Given the description of an element on the screen output the (x, y) to click on. 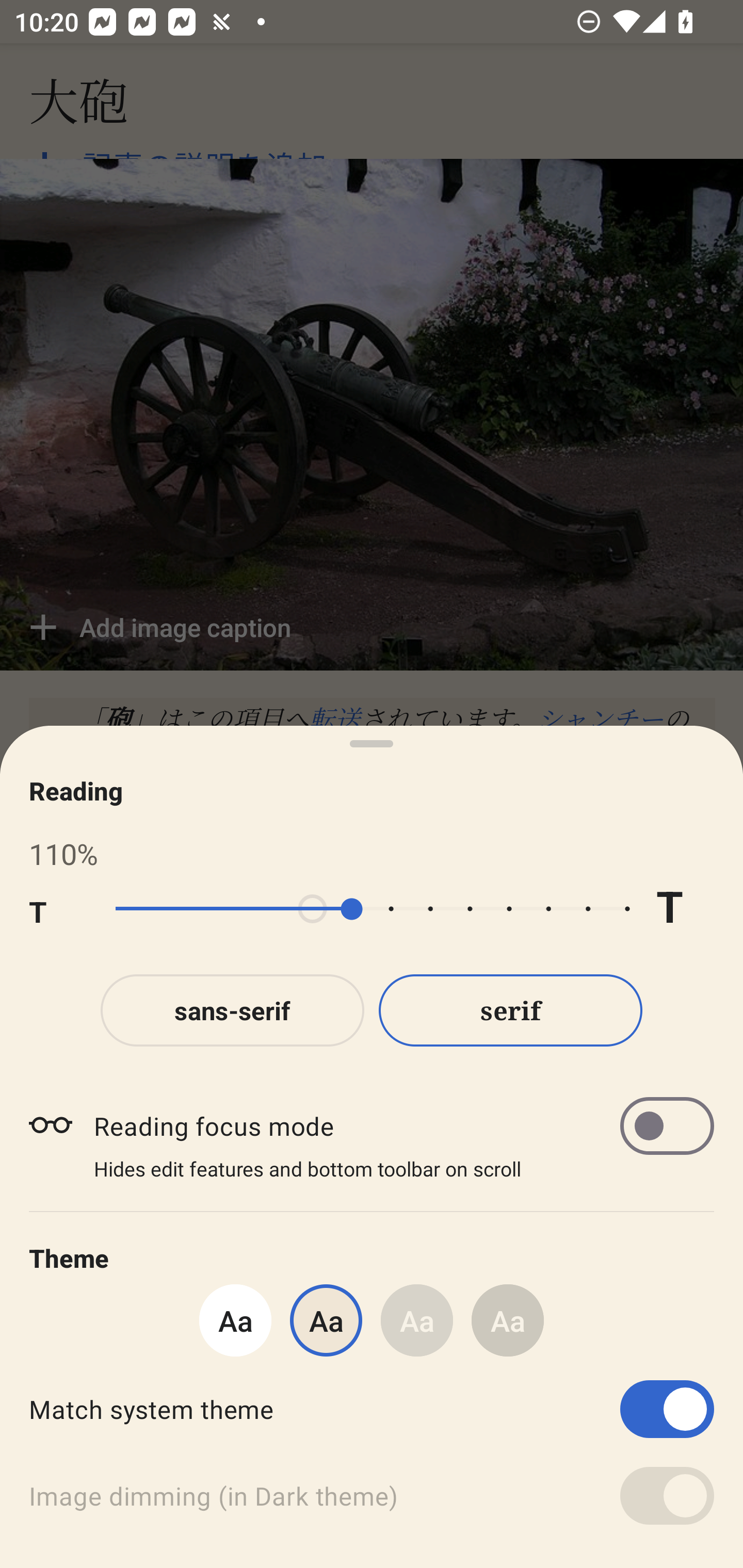
T Decrease text size (57, 909)
T Increase text size (685, 909)
sans-serif (232, 1010)
serif (510, 1010)
Reading focus mode (403, 1125)
Aa (235, 1320)
Aa (416, 1320)
Aa (507, 1320)
Match system theme (371, 1408)
Image dimming (in Dark theme) (371, 1495)
